Given the description of an element on the screen output the (x, y) to click on. 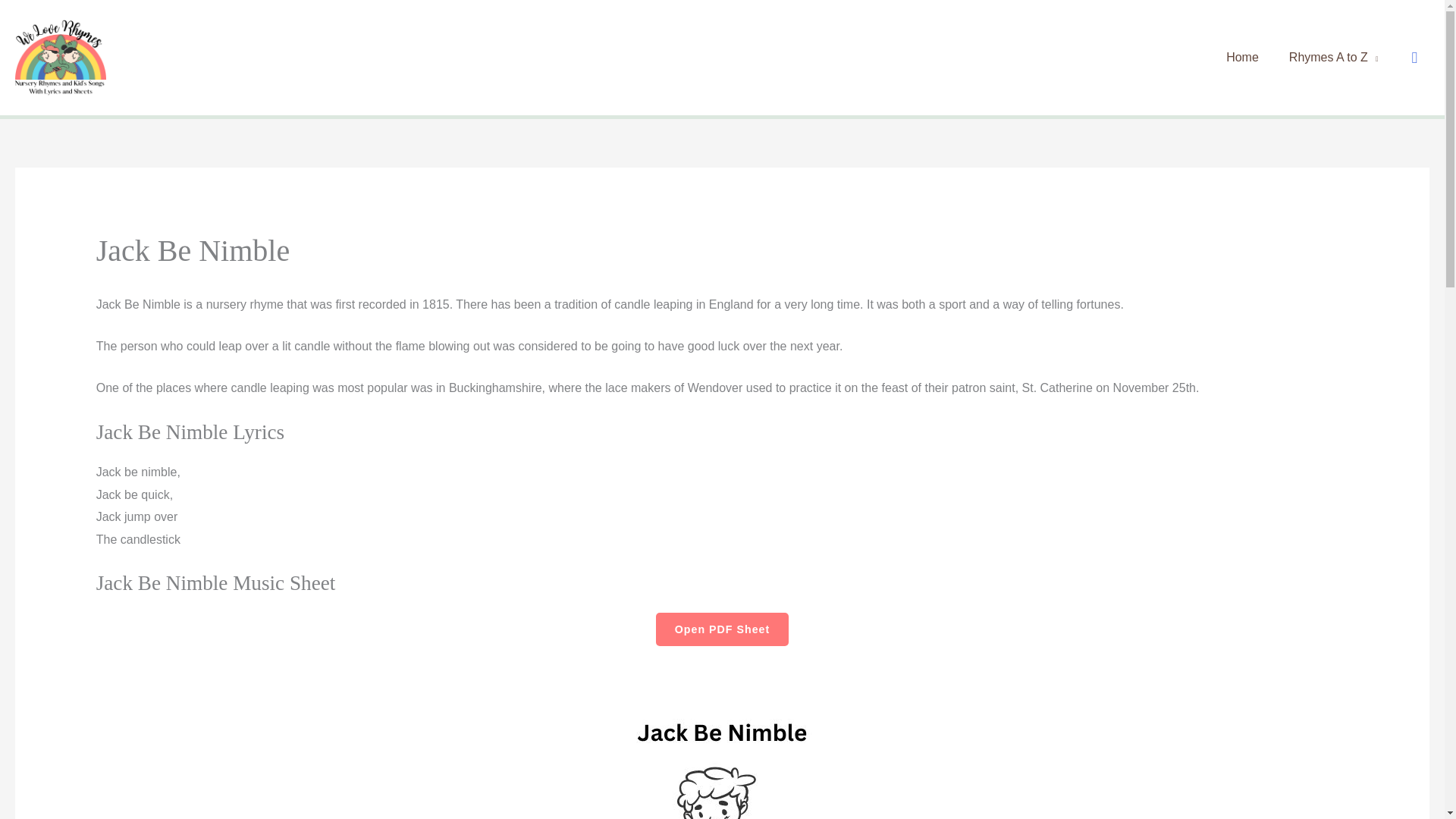
Home (1245, 57)
Rhymes A to Z (1336, 57)
